Given the description of an element on the screen output the (x, y) to click on. 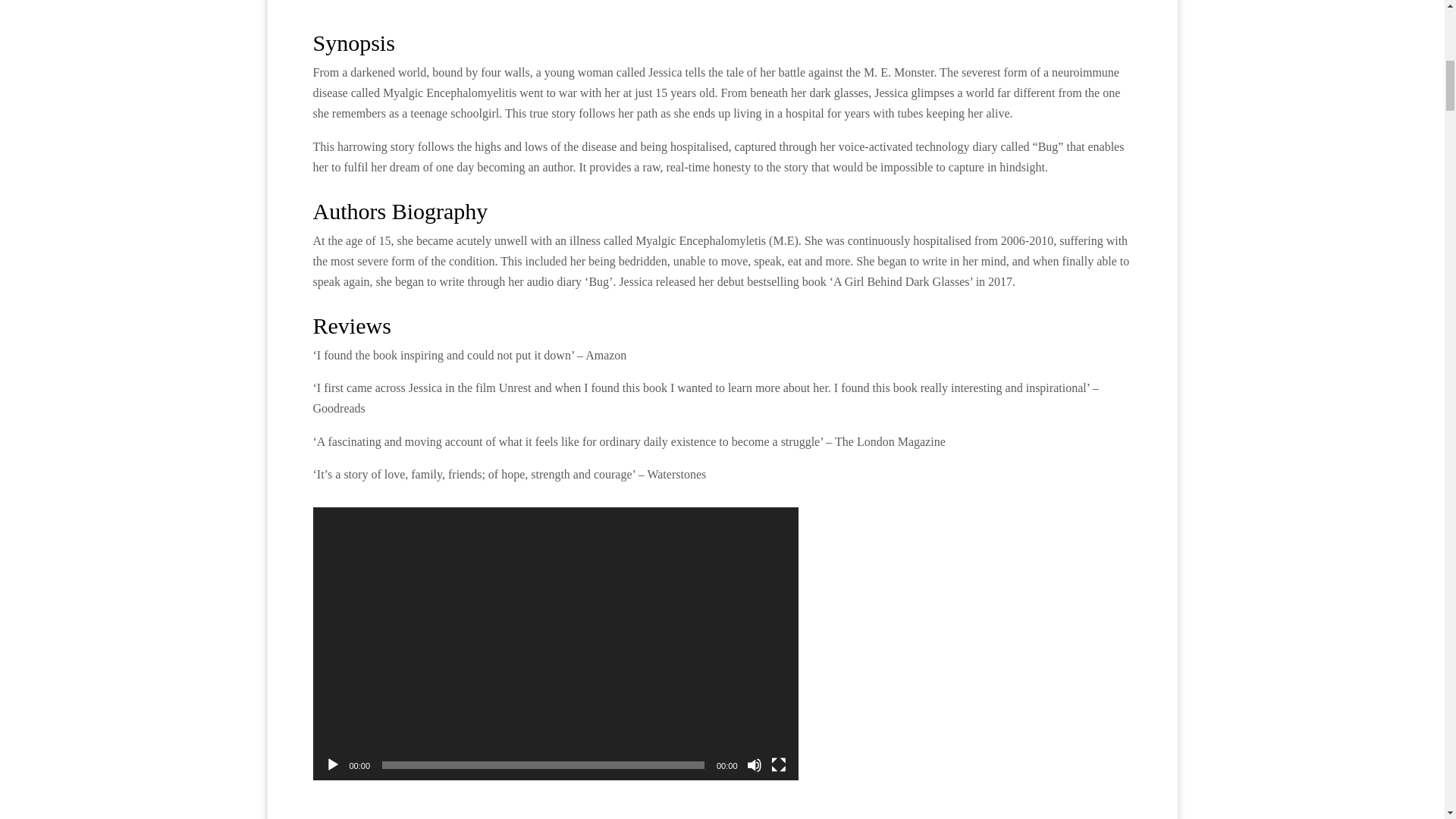
Mute (753, 765)
Play (331, 765)
Fullscreen (778, 765)
